Given the description of an element on the screen output the (x, y) to click on. 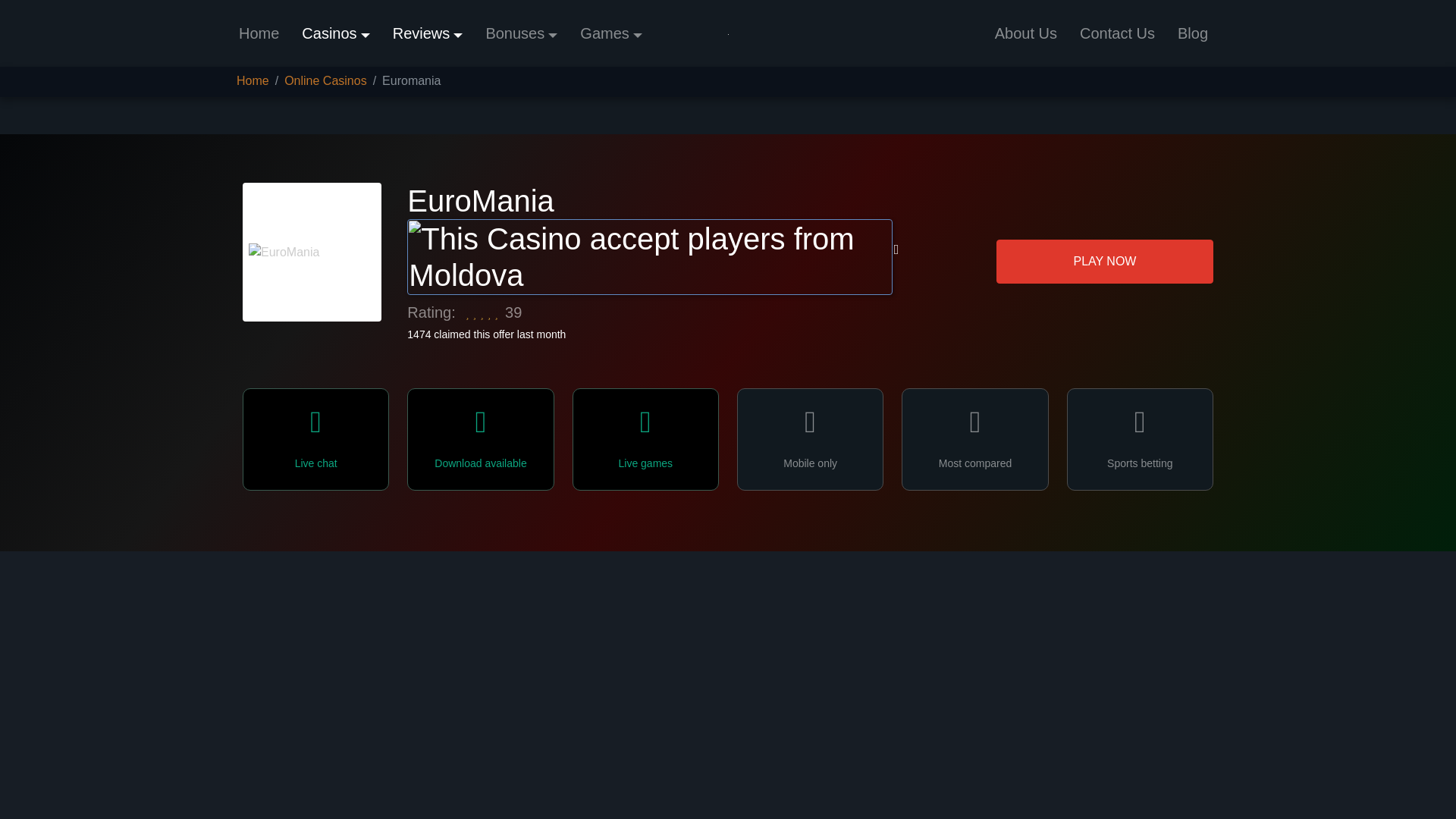
Home (258, 32)
Reviews (427, 32)
Casinos (334, 32)
Casinos (334, 32)
Home (258, 32)
